Given the description of an element on the screen output the (x, y) to click on. 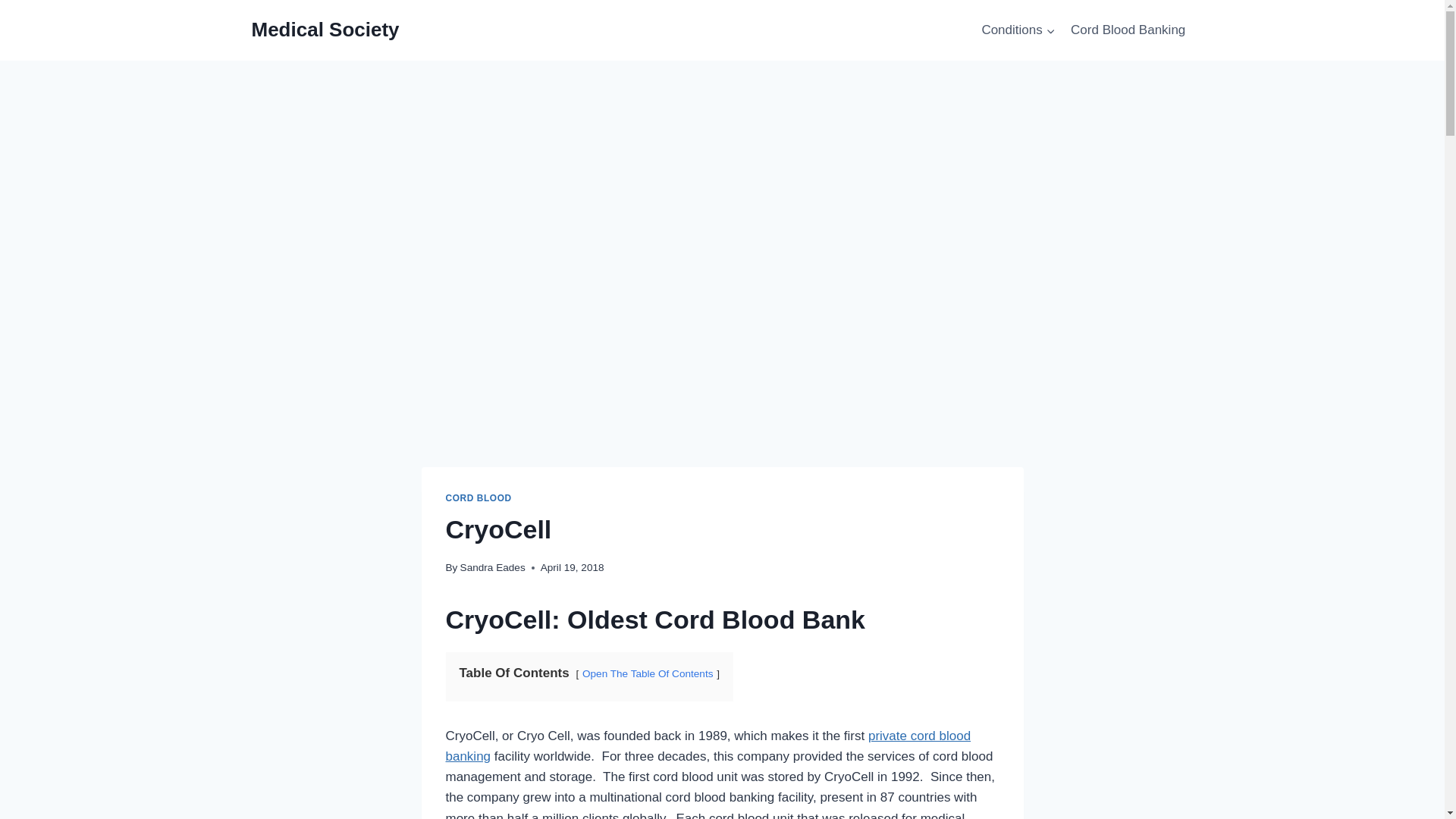
private cord blood banking (708, 745)
CORD BLOOD (478, 498)
Medical Society (324, 29)
Sandra Eades (492, 567)
Cord Blood Banking (1127, 30)
Open The Table Of Contents (647, 673)
Conditions (1018, 30)
